Given the description of an element on the screen output the (x, y) to click on. 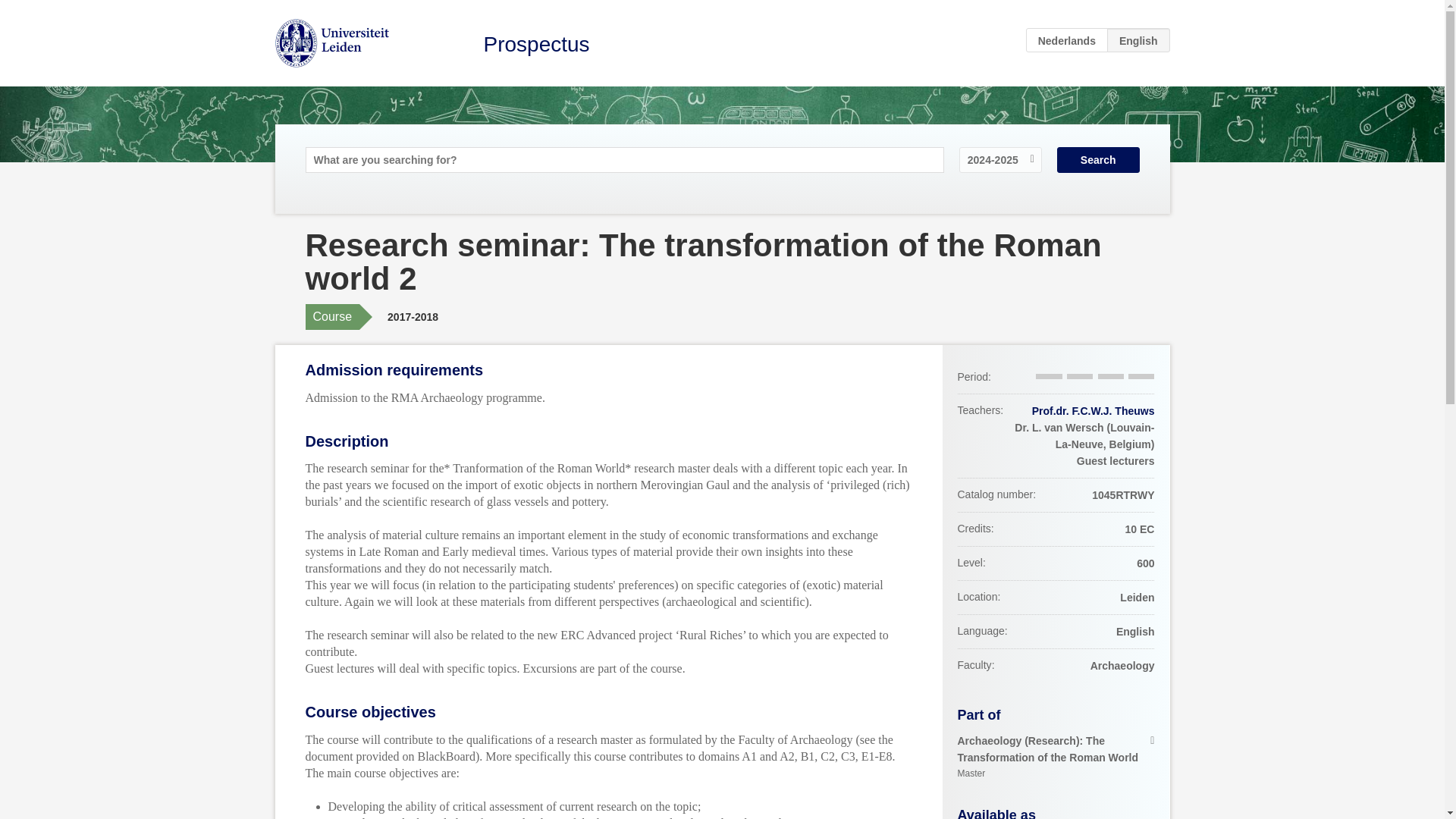
Search (1098, 159)
NL (1067, 39)
Prof.dr. F.C.W.J. Theuws (1093, 410)
Prospectus (536, 44)
